Given the description of an element on the screen output the (x, y) to click on. 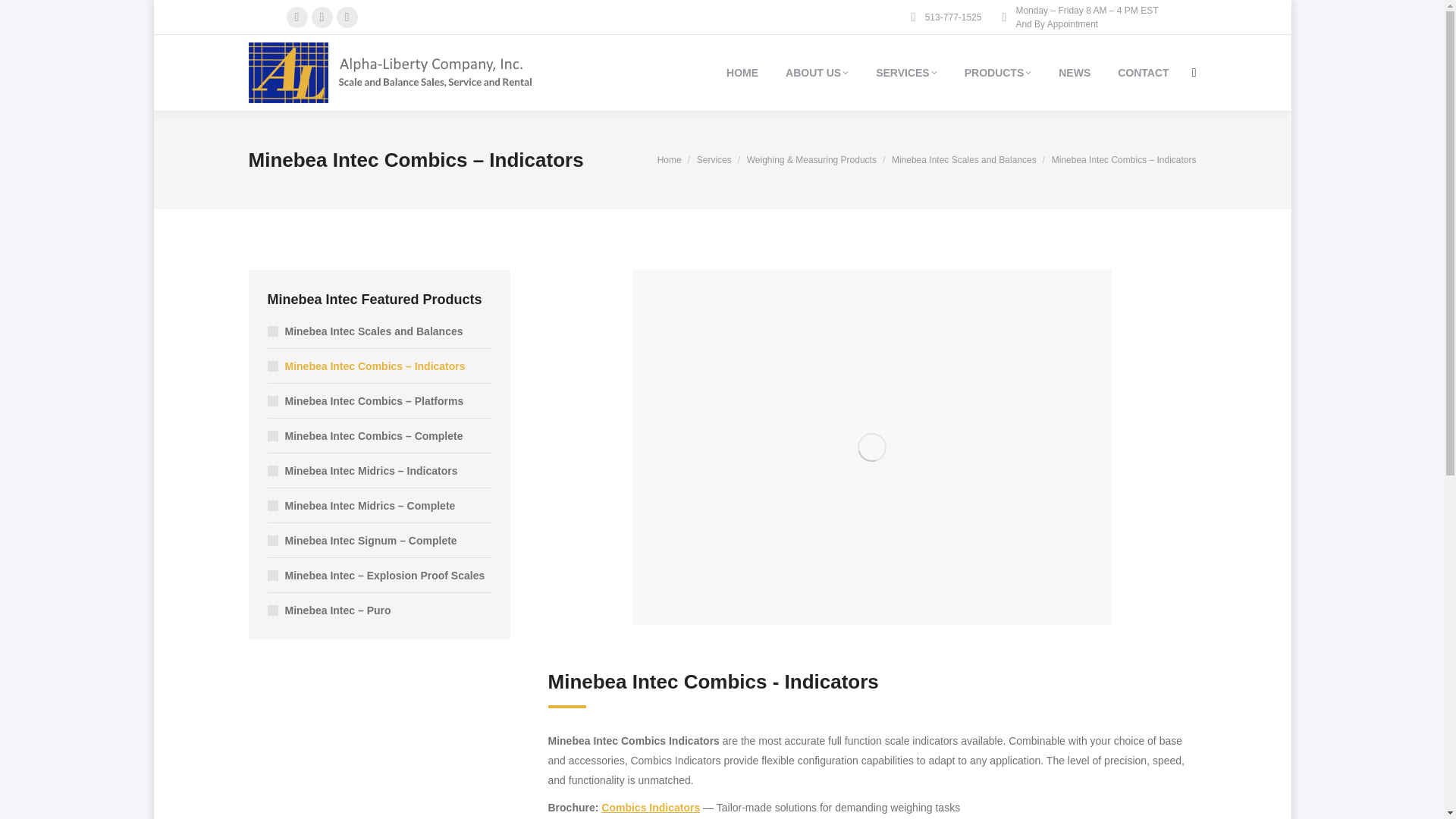
Home (669, 159)
Services (714, 159)
Linkedin page opens in new window (347, 16)
X page opens in new window (321, 16)
Go! (24, 16)
X page opens in new window (321, 16)
SERVICES (906, 72)
PRODUCTS (997, 72)
Linkedin page opens in new window (347, 16)
Facebook page opens in new window (296, 16)
